Given the description of an element on the screen output the (x, y) to click on. 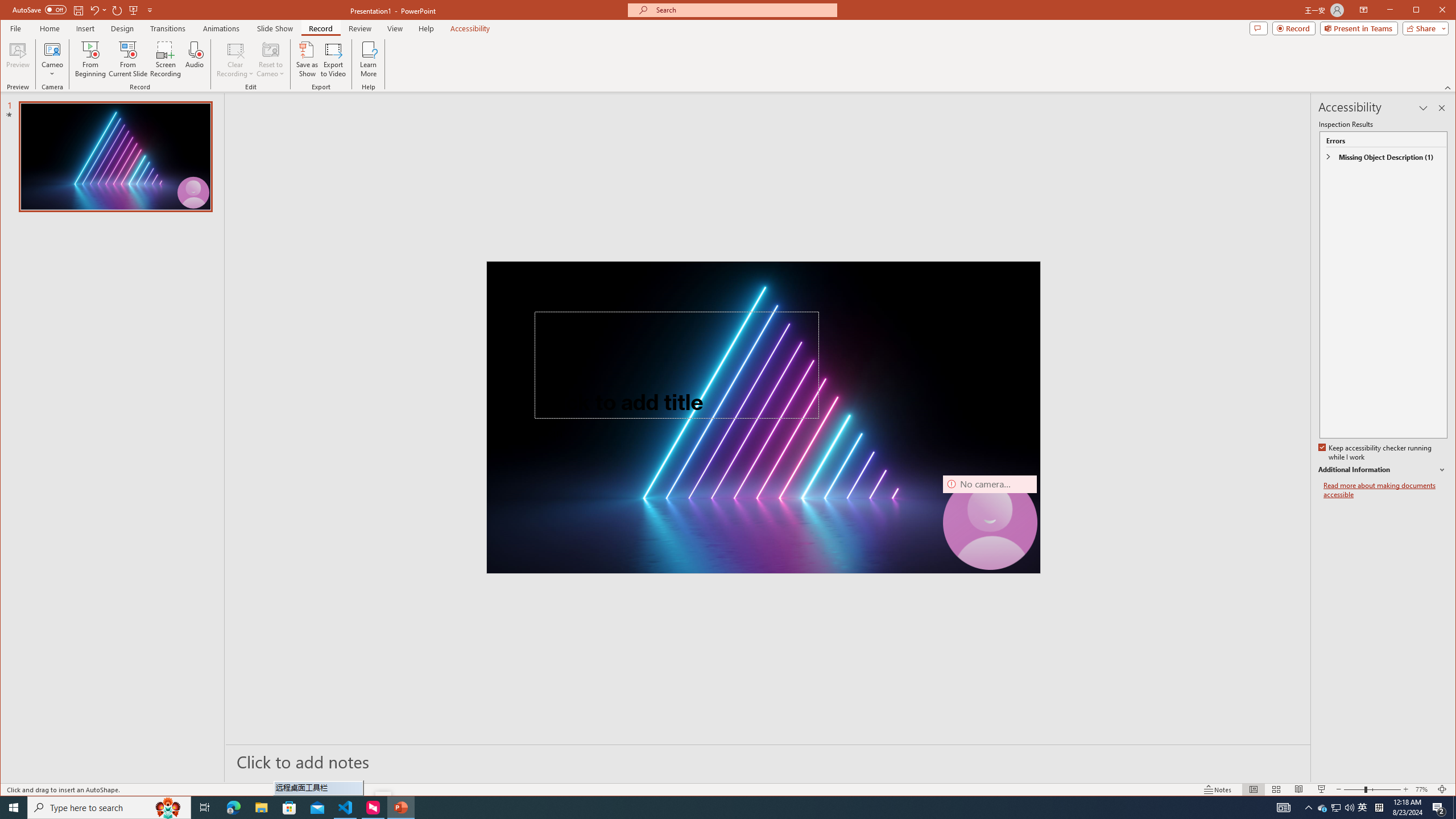
Action Center, 2 new notifications (1439, 807)
Additional Information (1382, 469)
Running applications (700, 807)
Camera 7, No camera detected. (990, 522)
Neon laser lights aligned to form a triangle (762, 417)
